Given the description of an element on the screen output the (x, y) to click on. 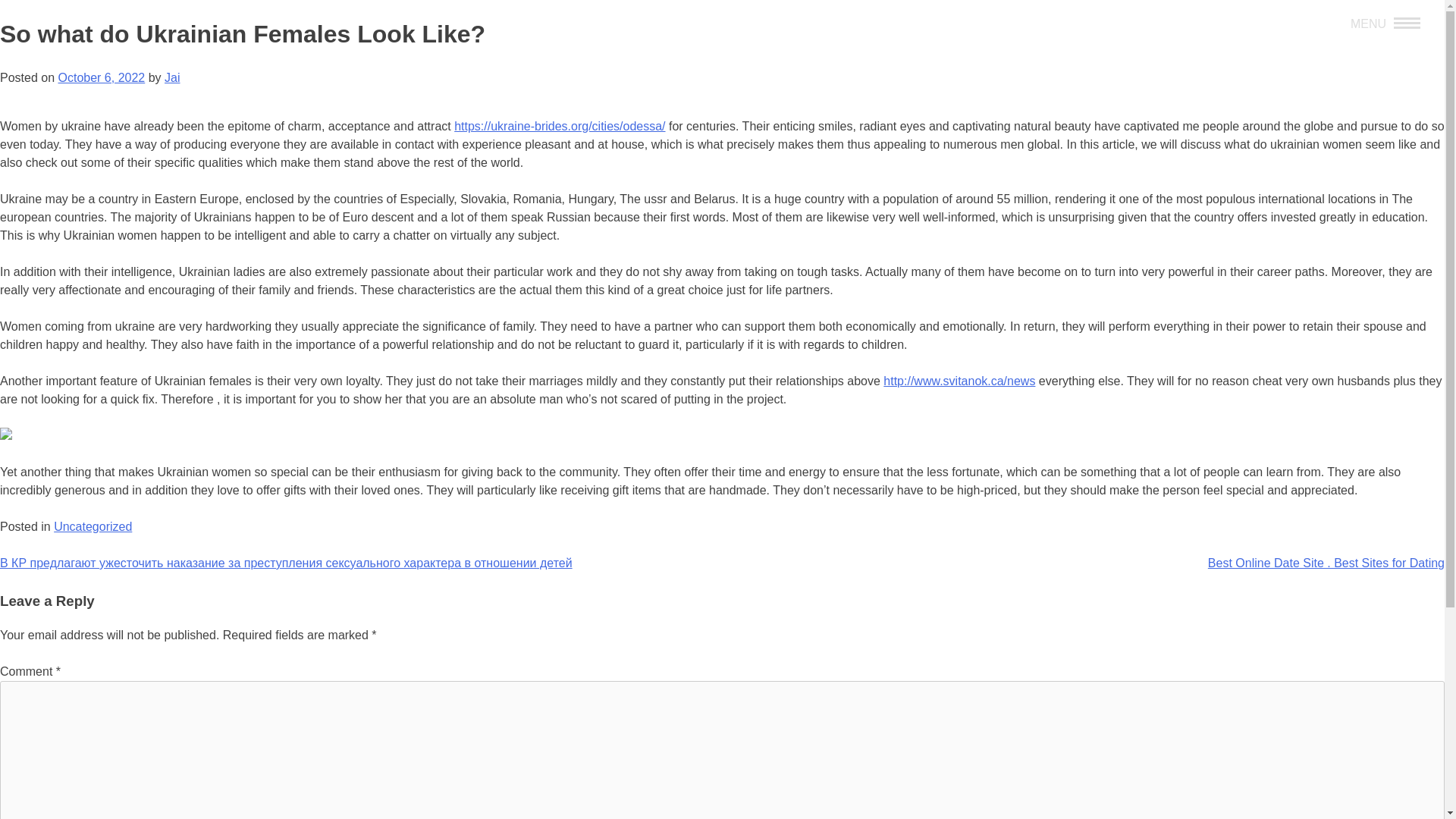
Jai (171, 77)
Uncategorized (92, 526)
October 6, 2022 (101, 77)
